Given the description of an element on the screen output the (x, y) to click on. 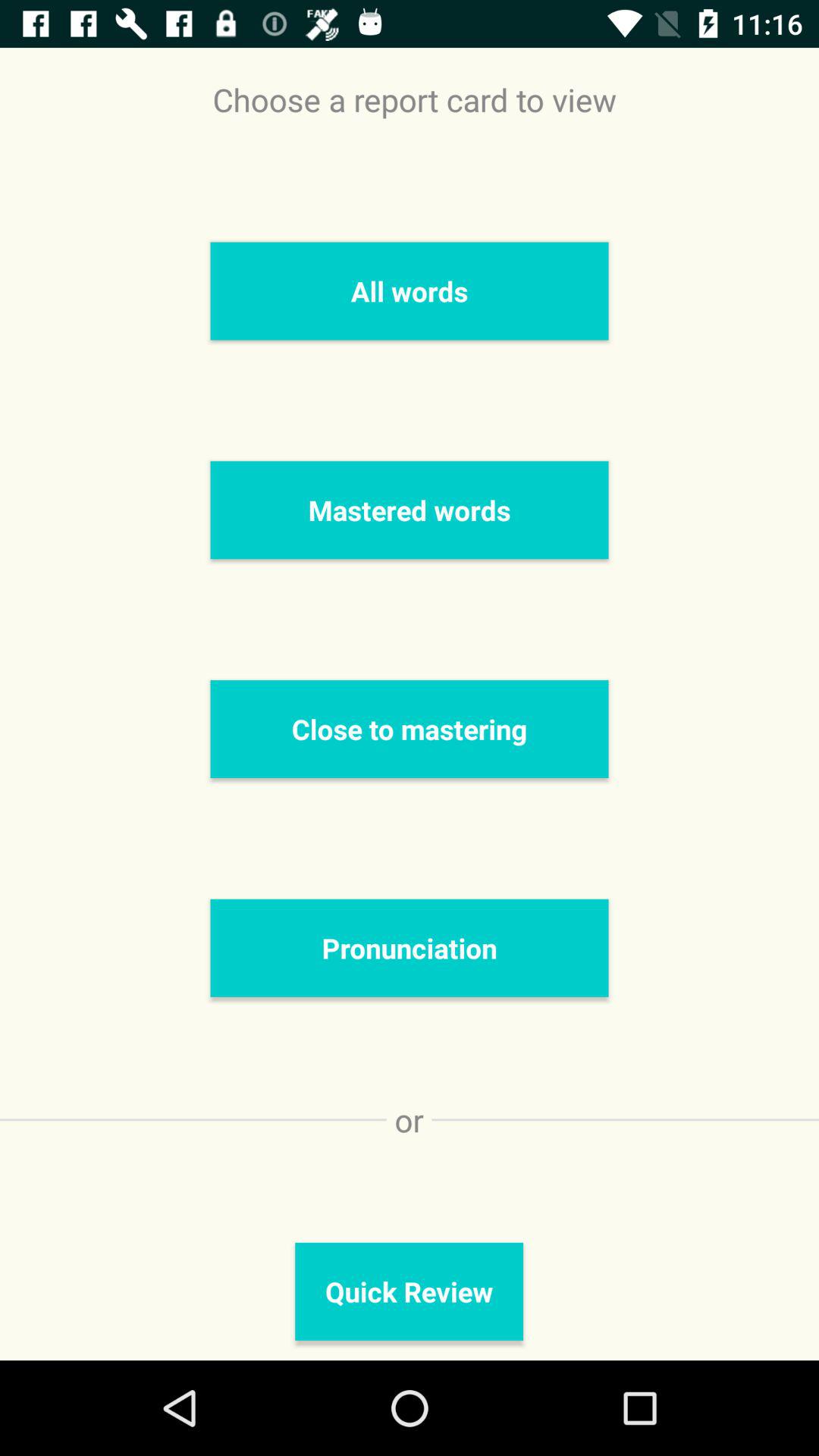
launch close to mastering (409, 729)
